Given the description of an element on the screen output the (x, y) to click on. 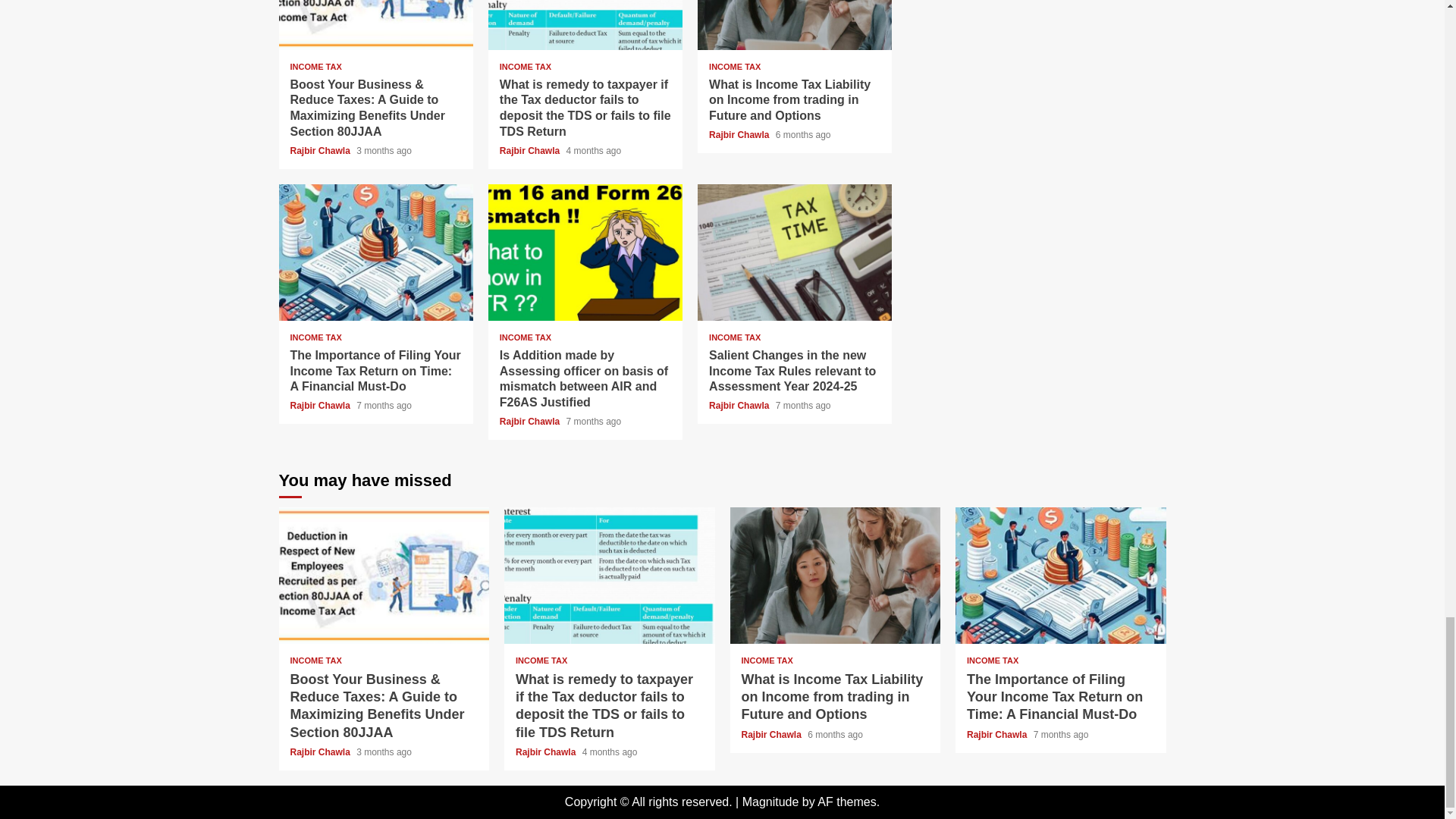
INCOME TAX (525, 67)
Rajbir Chawla (740, 134)
INCOME TAX (314, 337)
Rajbir Chawla (320, 150)
INCOME TAX (734, 67)
Rajbir Chawla (530, 150)
